Given the description of an element on the screen output the (x, y) to click on. 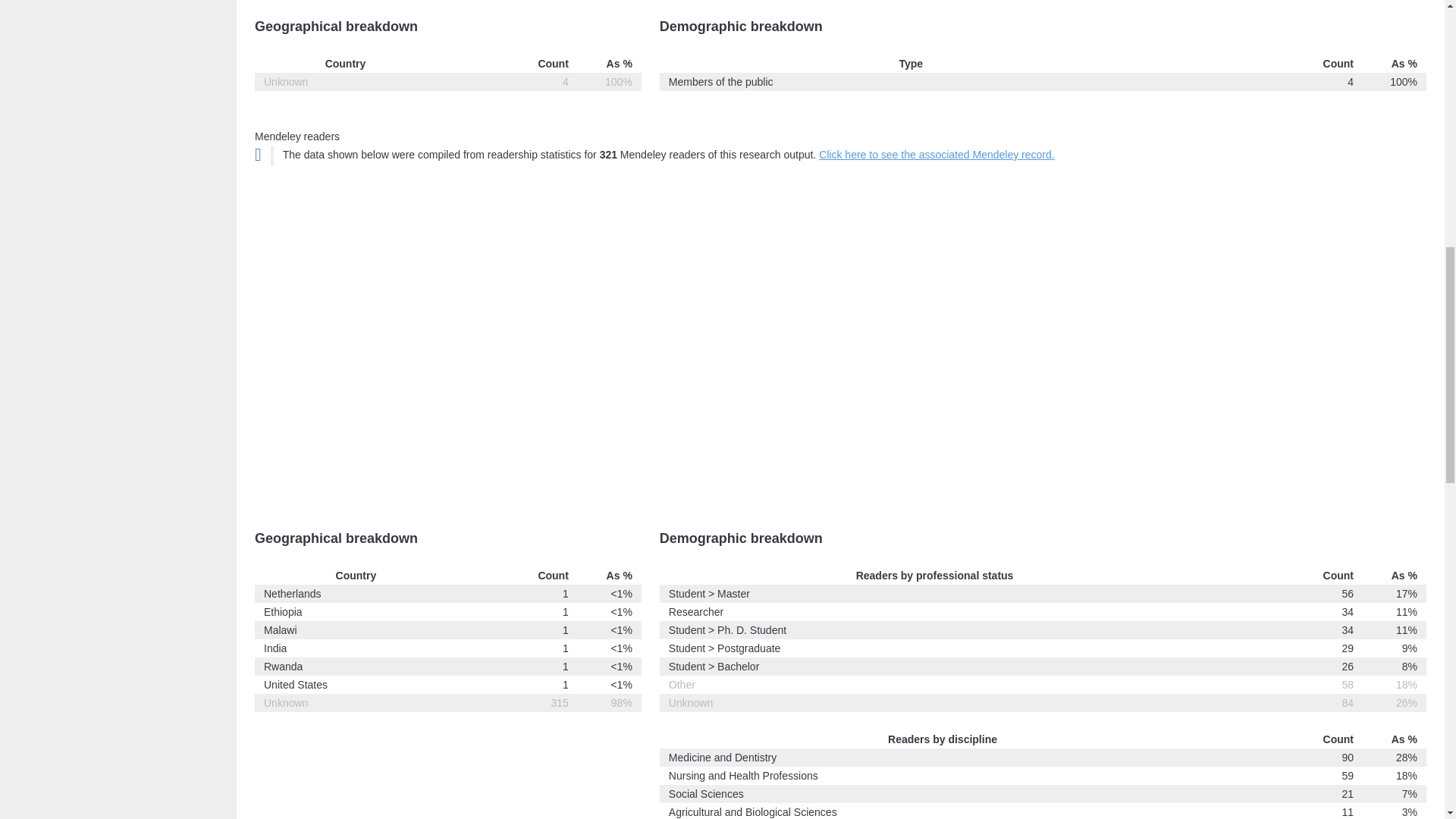
Click here to see the associated Mendeley record. (936, 154)
